Given the description of an element on the screen output the (x, y) to click on. 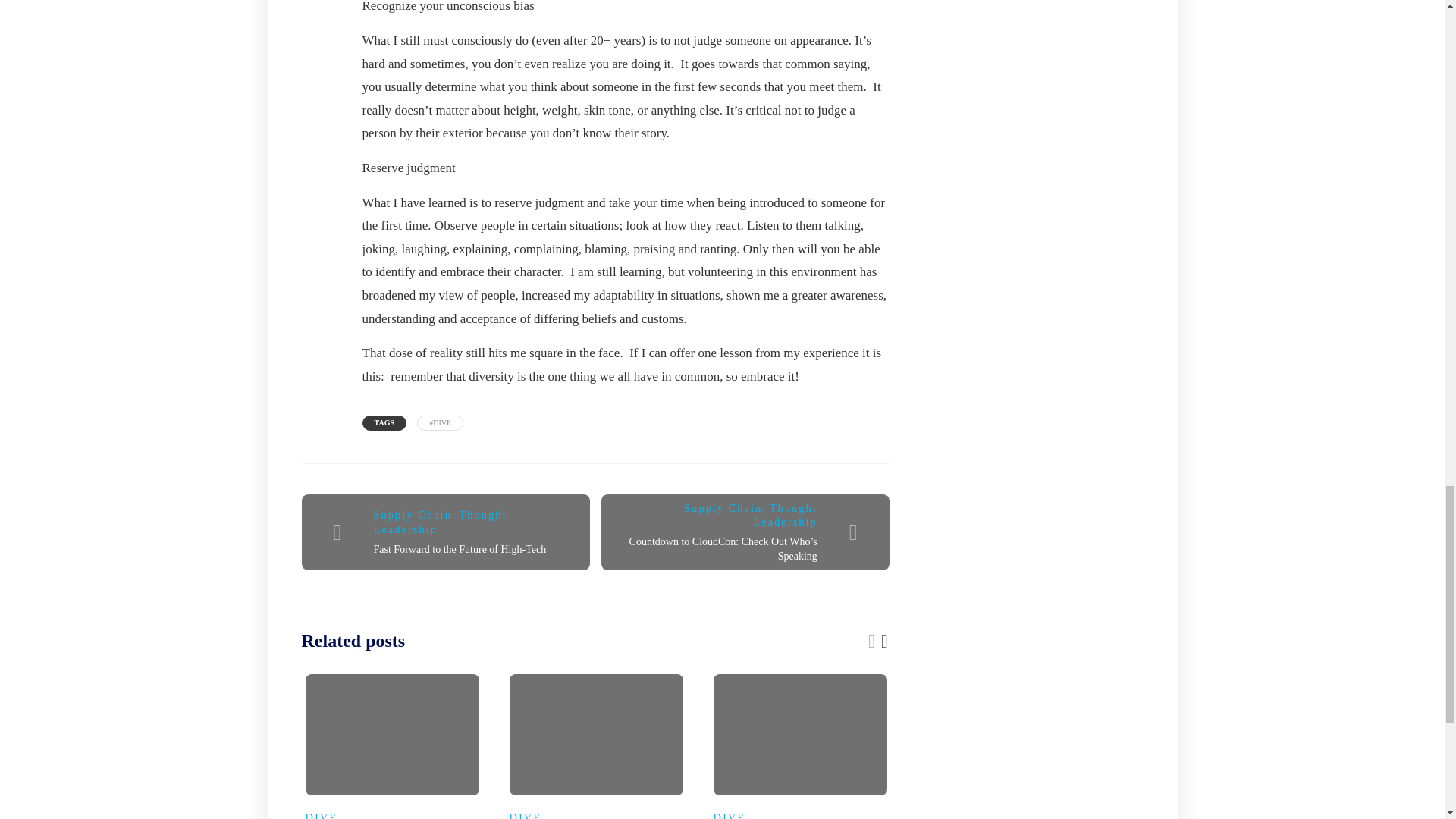
Fast Forward to the Future of High-Tech (460, 549)
Thought Leadership (440, 521)
Supply Chain (722, 508)
Thought Leadership (784, 515)
Supply Chain (412, 514)
TAGS (384, 422)
